Given the description of an element on the screen output the (x, y) to click on. 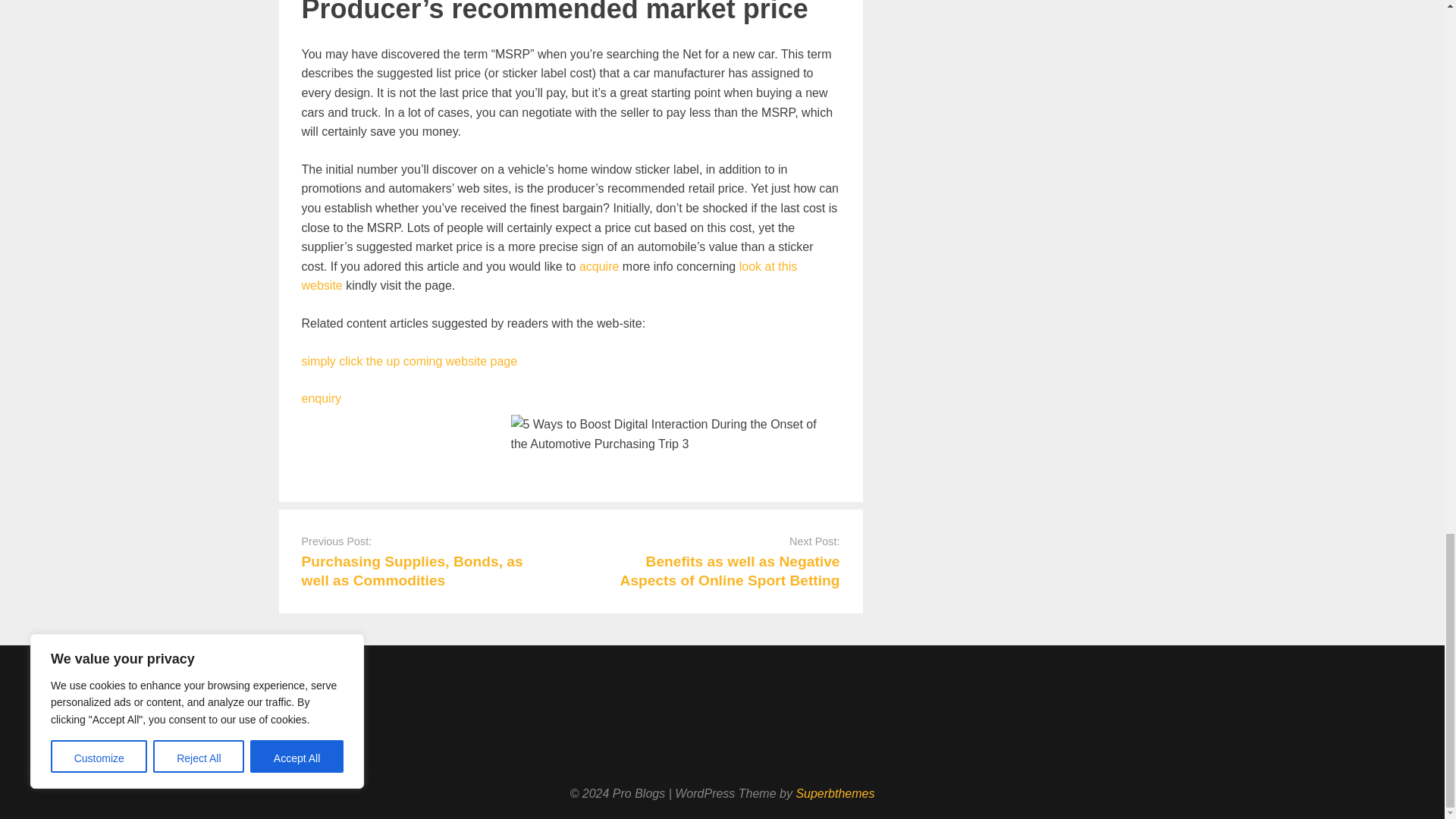
look at this website (549, 276)
acquire (598, 266)
Benefits as well as Negative Aspects of Online Sport Betting (730, 570)
enquiry (320, 398)
Purchasing Supplies, Bonds, as well as Commodities (411, 570)
simply click the up coming website page (409, 360)
